Given the description of an element on the screen output the (x, y) to click on. 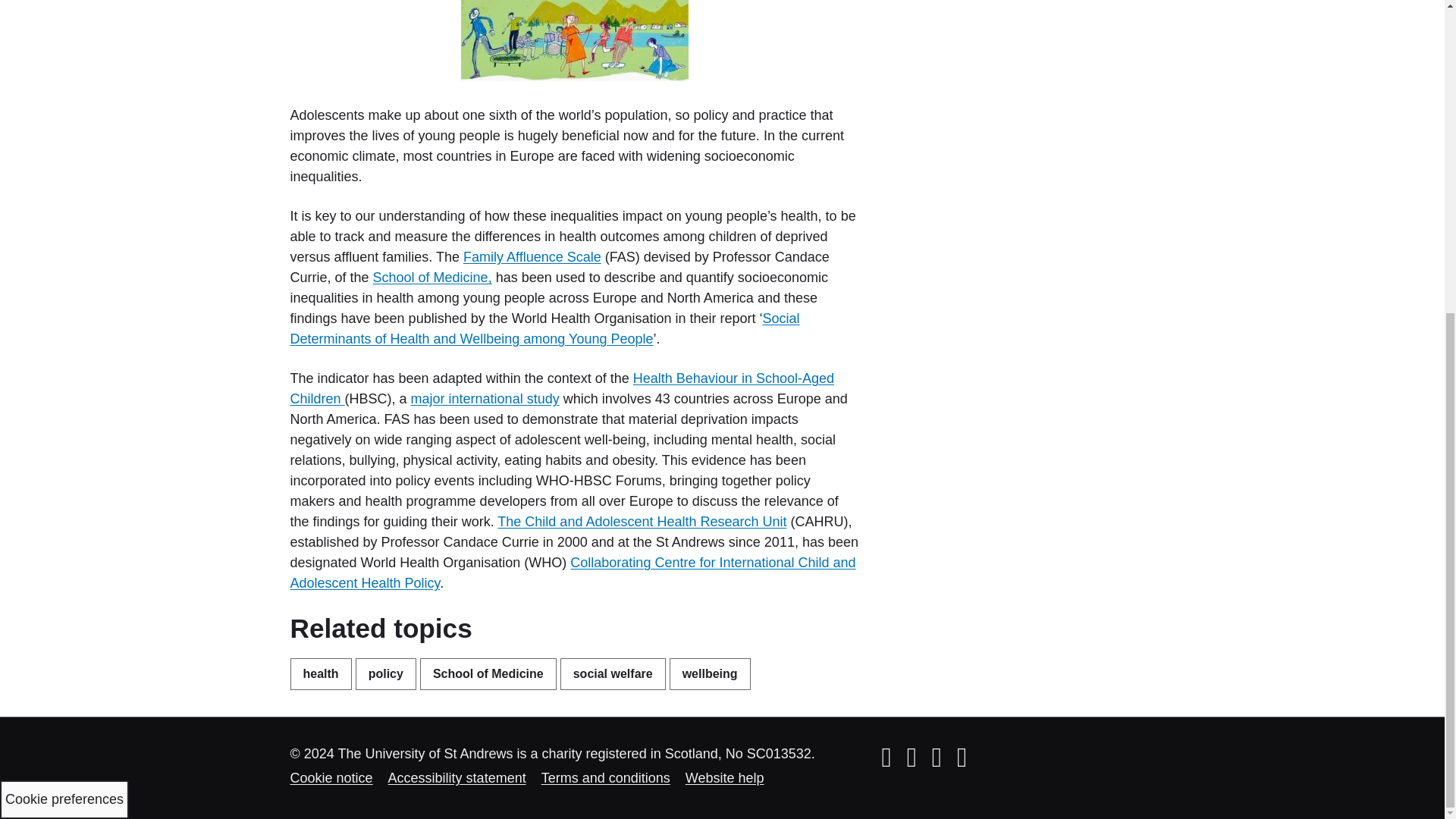
School of Medicine (488, 674)
Cookie notice (330, 777)
major international study (484, 398)
Accessibility statement (456, 777)
social welfare (612, 674)
The Child and Adolescent Health Research Unit (641, 521)
School of Medicine, (432, 277)
wellbeing (710, 674)
health (319, 674)
Family Affluence Scale (532, 256)
Website help (724, 777)
policy (385, 674)
Terms and conditions (605, 777)
